Given the description of an element on the screen output the (x, y) to click on. 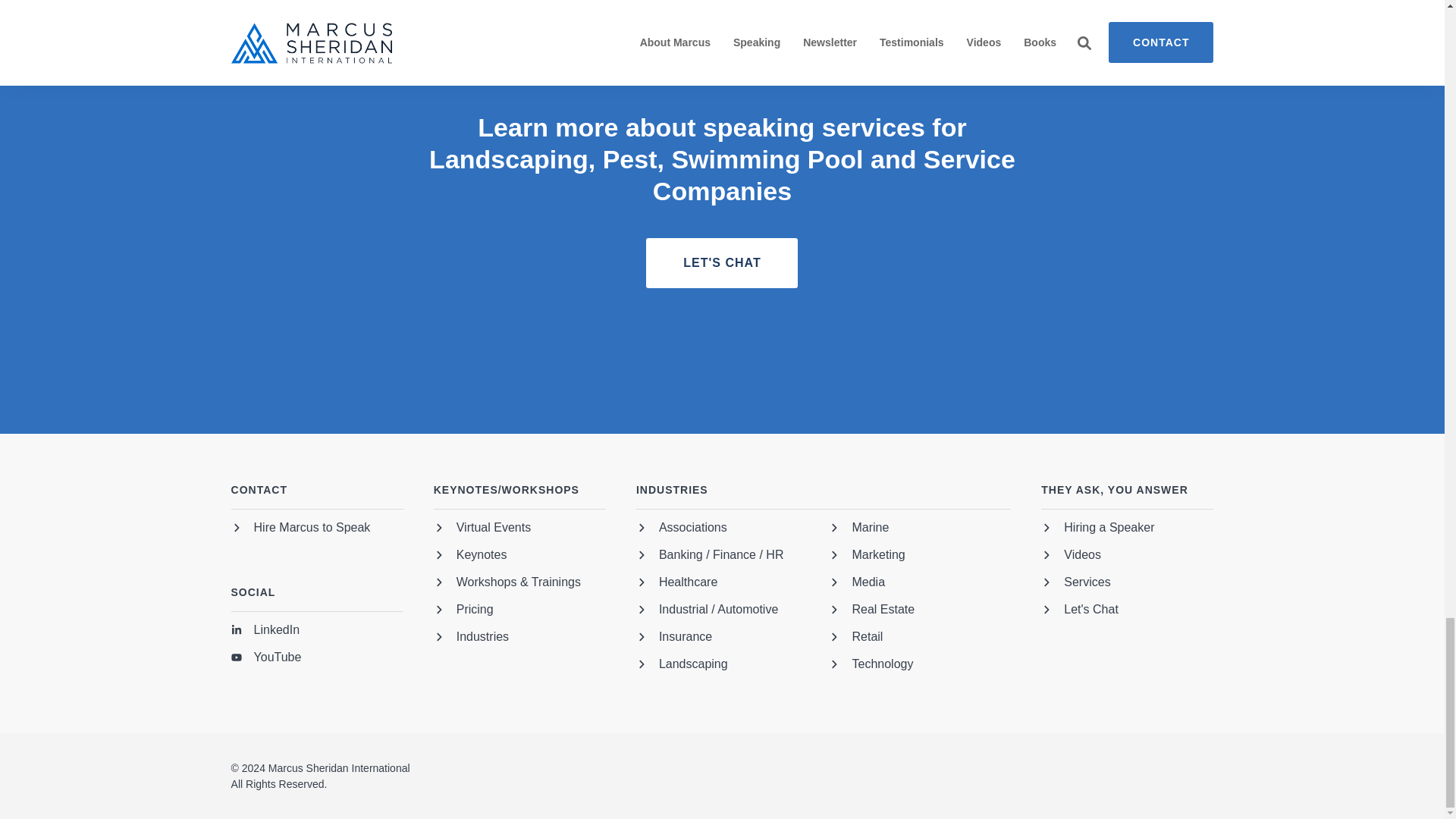
Click for LinkedIn Profile (265, 632)
Click for YouTube Channel (266, 659)
LinkedIn (265, 632)
Hire Marcus to Speak (301, 529)
Pricing (463, 611)
Associations (681, 529)
YouTube (266, 659)
INDUSTRIES (823, 496)
LET'S CHAT (721, 263)
Industries (470, 639)
Let's Chat (721, 263)
Virtual Events (482, 529)
Keynotes (469, 557)
Healthcare (676, 584)
